Given the description of an element on the screen output the (x, y) to click on. 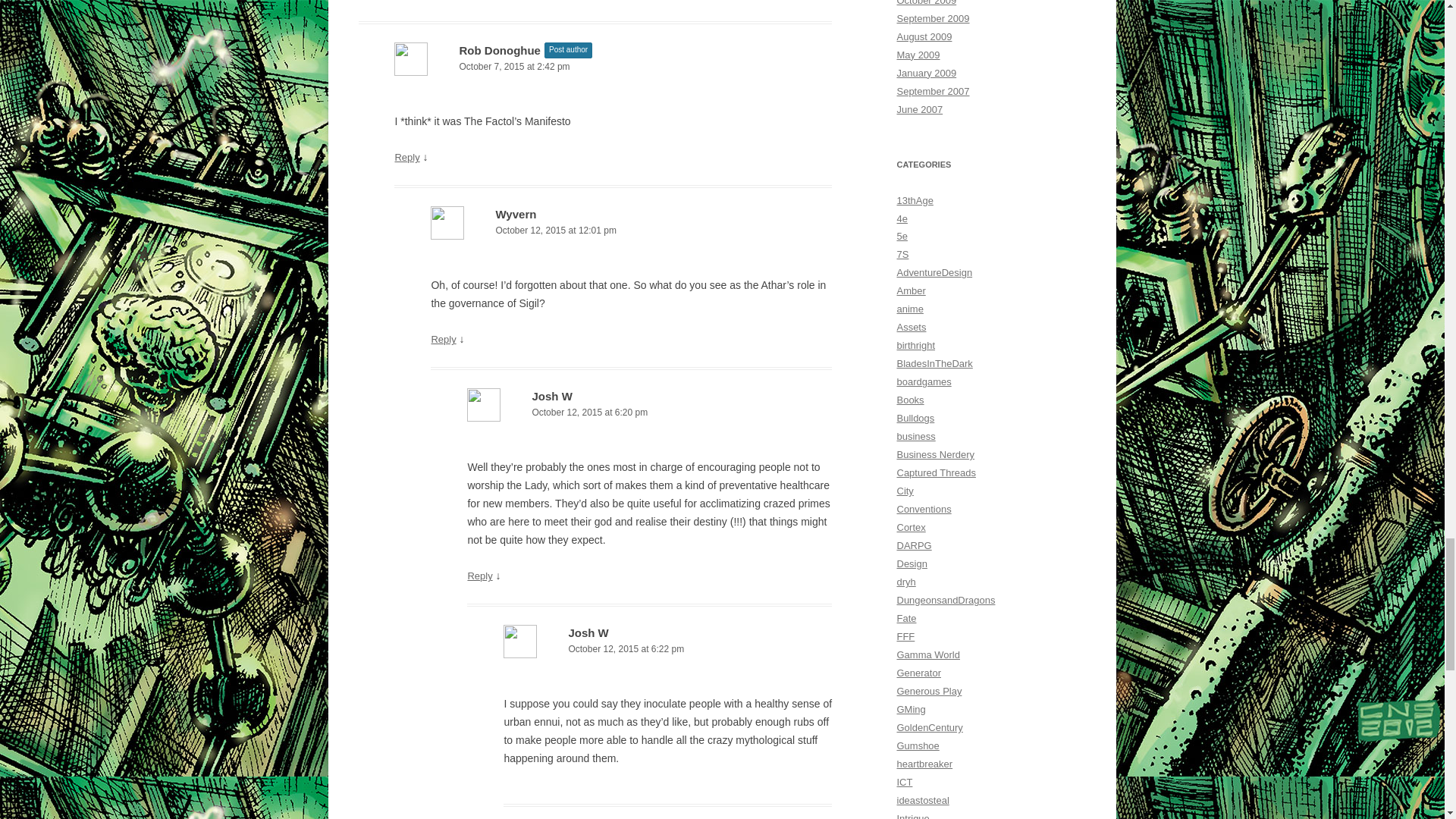
October 12, 2015 at 6:20 pm (649, 412)
October 12, 2015 at 6:22 pm (667, 649)
Reply (479, 575)
Reply (406, 156)
October 7, 2015 at 2:42 pm (612, 66)
Reply (442, 338)
October 12, 2015 at 12:01 pm (630, 230)
